Given the description of an element on the screen output the (x, y) to click on. 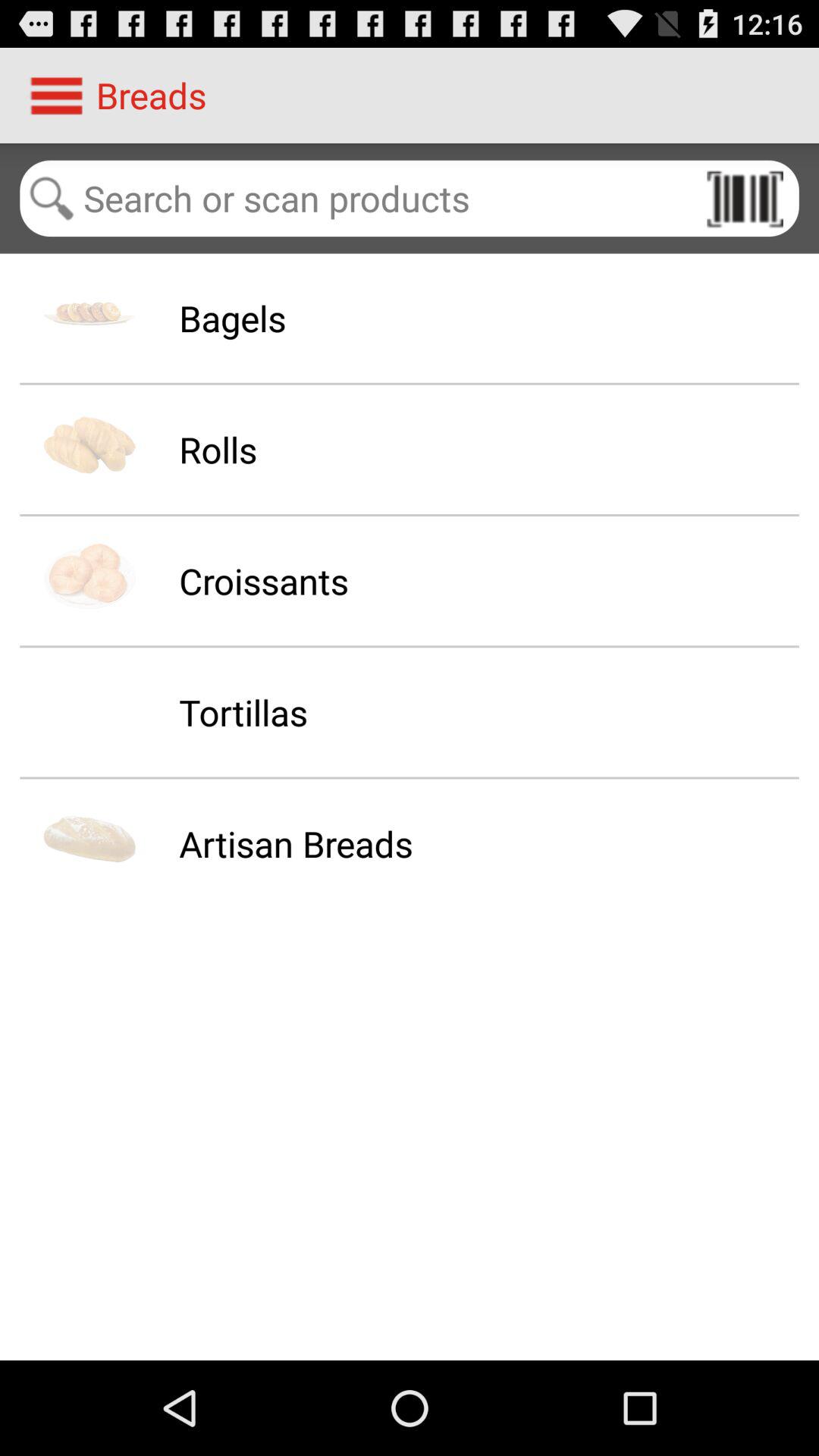
tap artisan breads icon (295, 843)
